Given the description of an element on the screen output the (x, y) to click on. 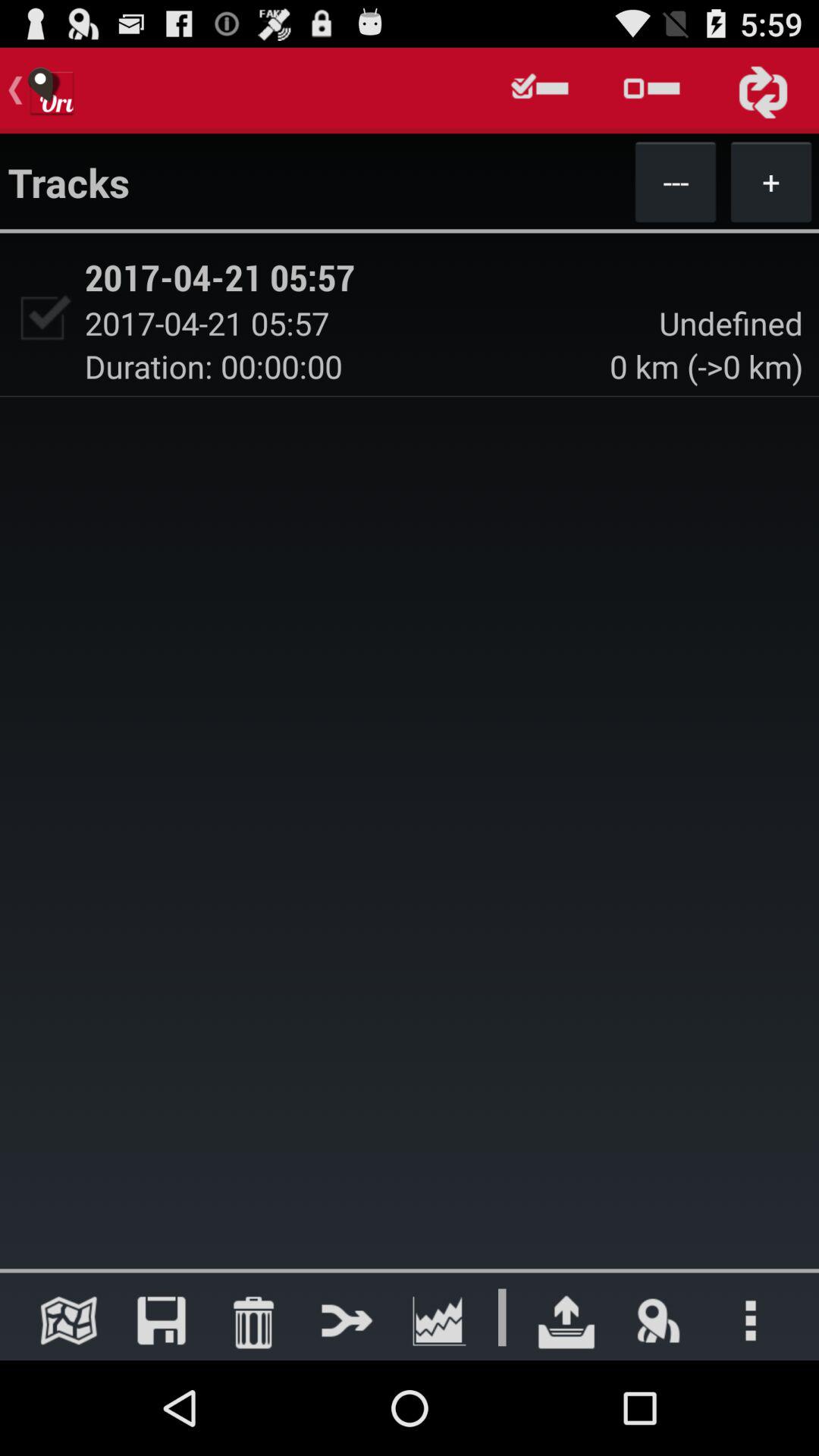
swipe to the + item (771, 181)
